Given the description of an element on the screen output the (x, y) to click on. 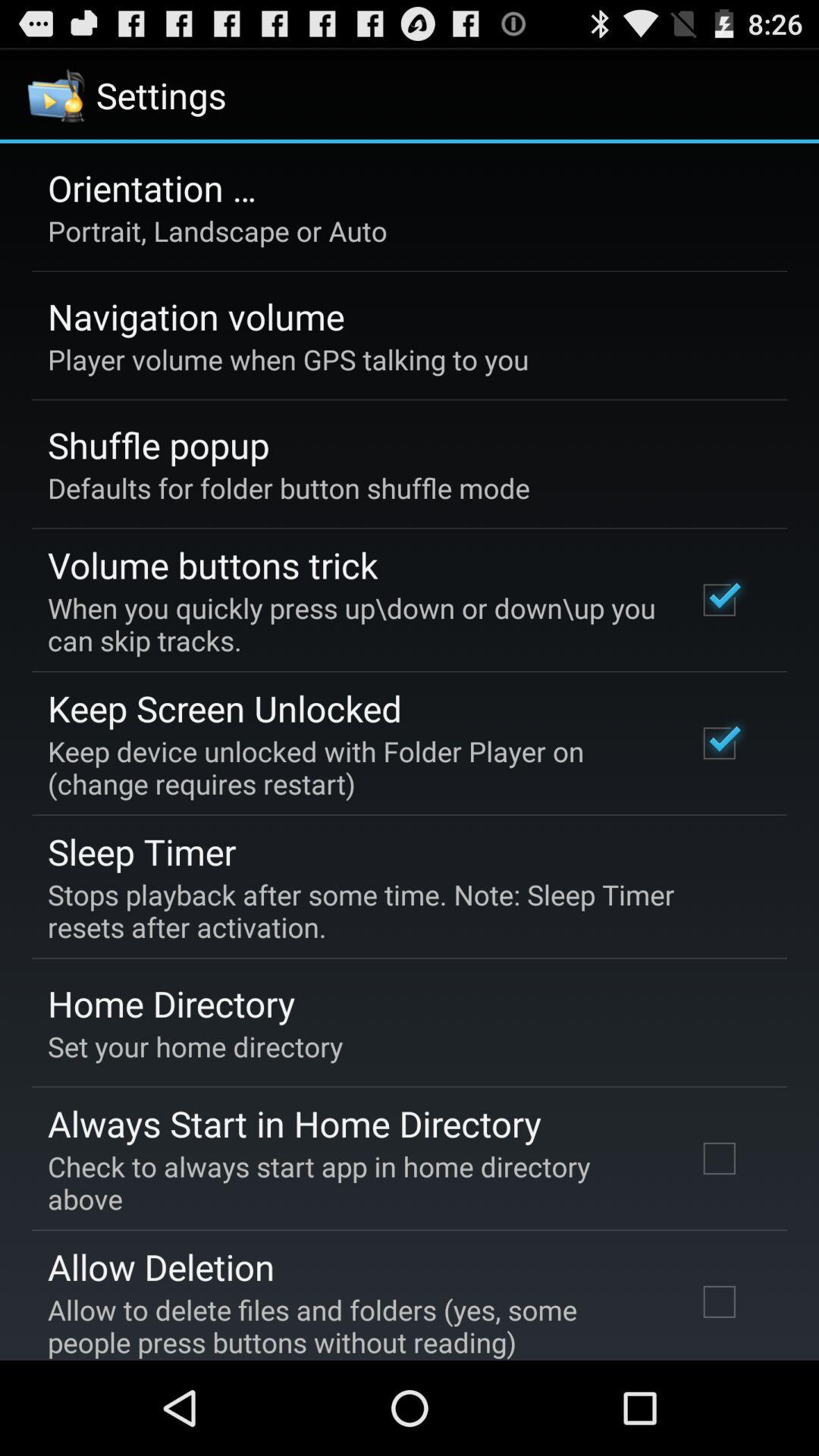
select allow deletion (160, 1266)
